Given the description of an element on the screen output the (x, y) to click on. 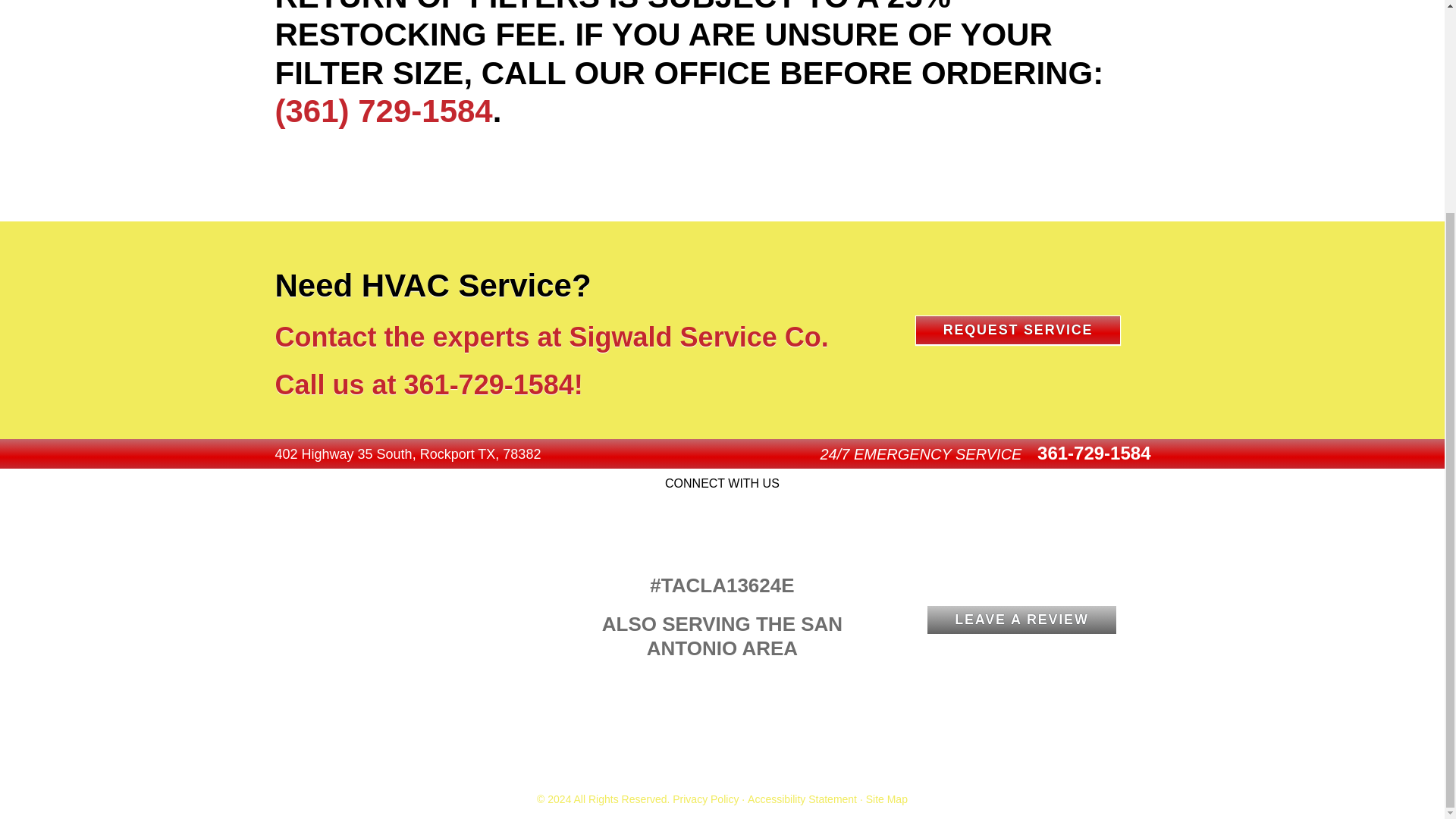
361-729-1584 (488, 384)
footer-logo (421, 571)
REQUEST SERVICE (1018, 329)
